Given the description of an element on the screen output the (x, y) to click on. 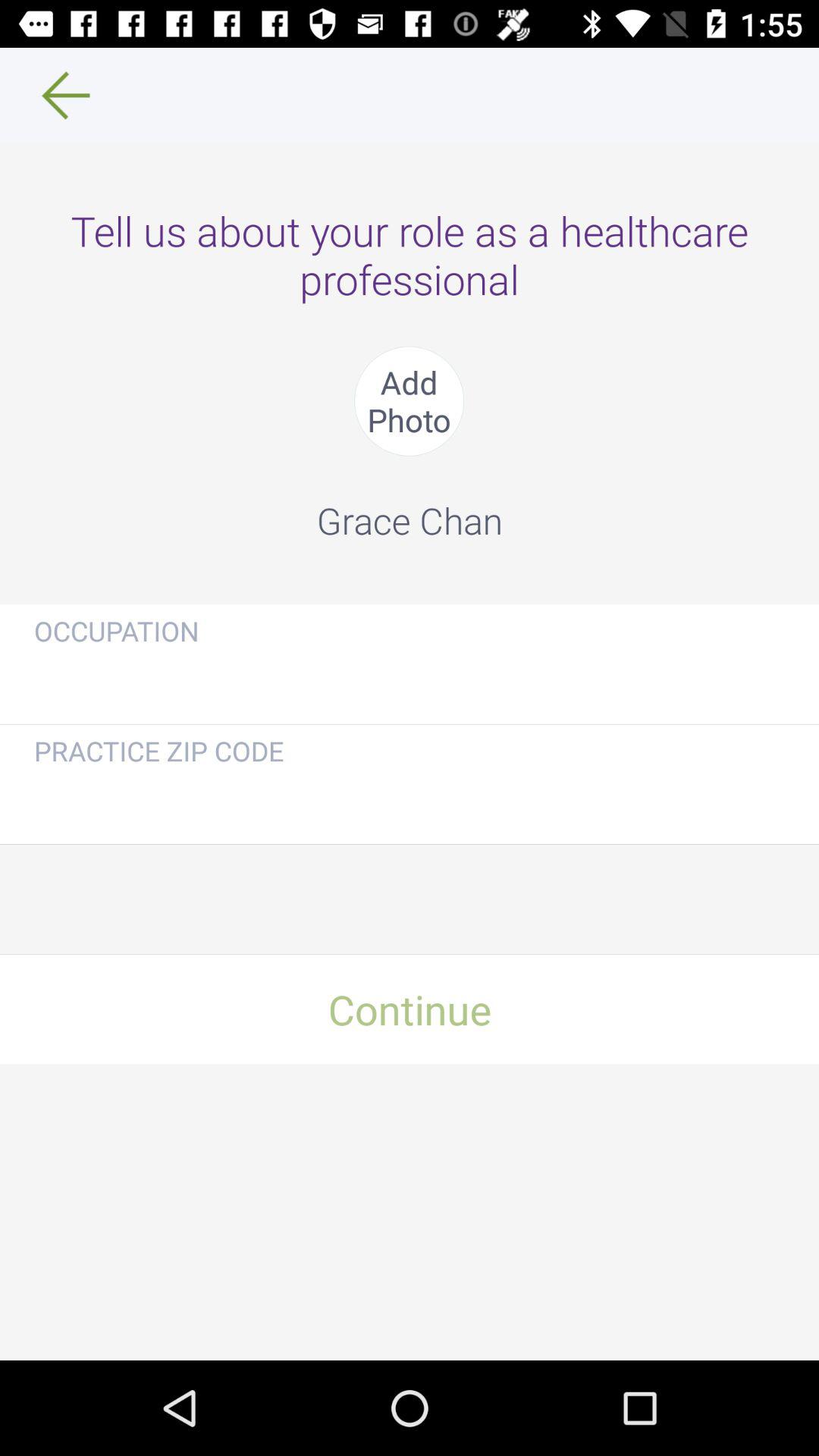
enter your practice zip code (409, 800)
